Given the description of an element on the screen output the (x, y) to click on. 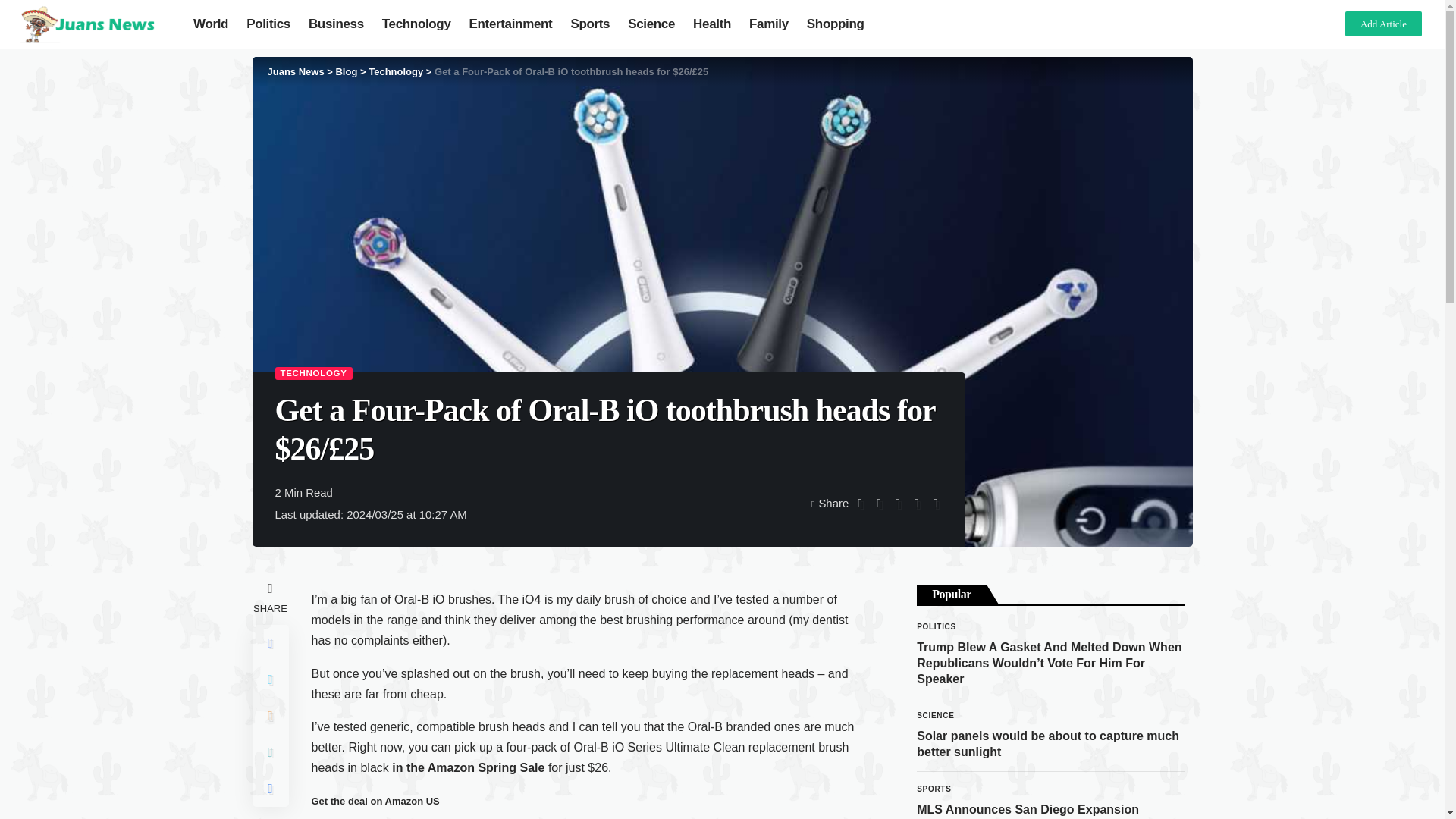
Go to the Technology Category archives. (395, 71)
Sports (589, 23)
Blog (345, 71)
Business (335, 23)
Science (651, 23)
Family (768, 23)
World (210, 23)
Add Article (1383, 23)
Politics (268, 23)
Shopping (835, 23)
